Given the description of an element on the screen output the (x, y) to click on. 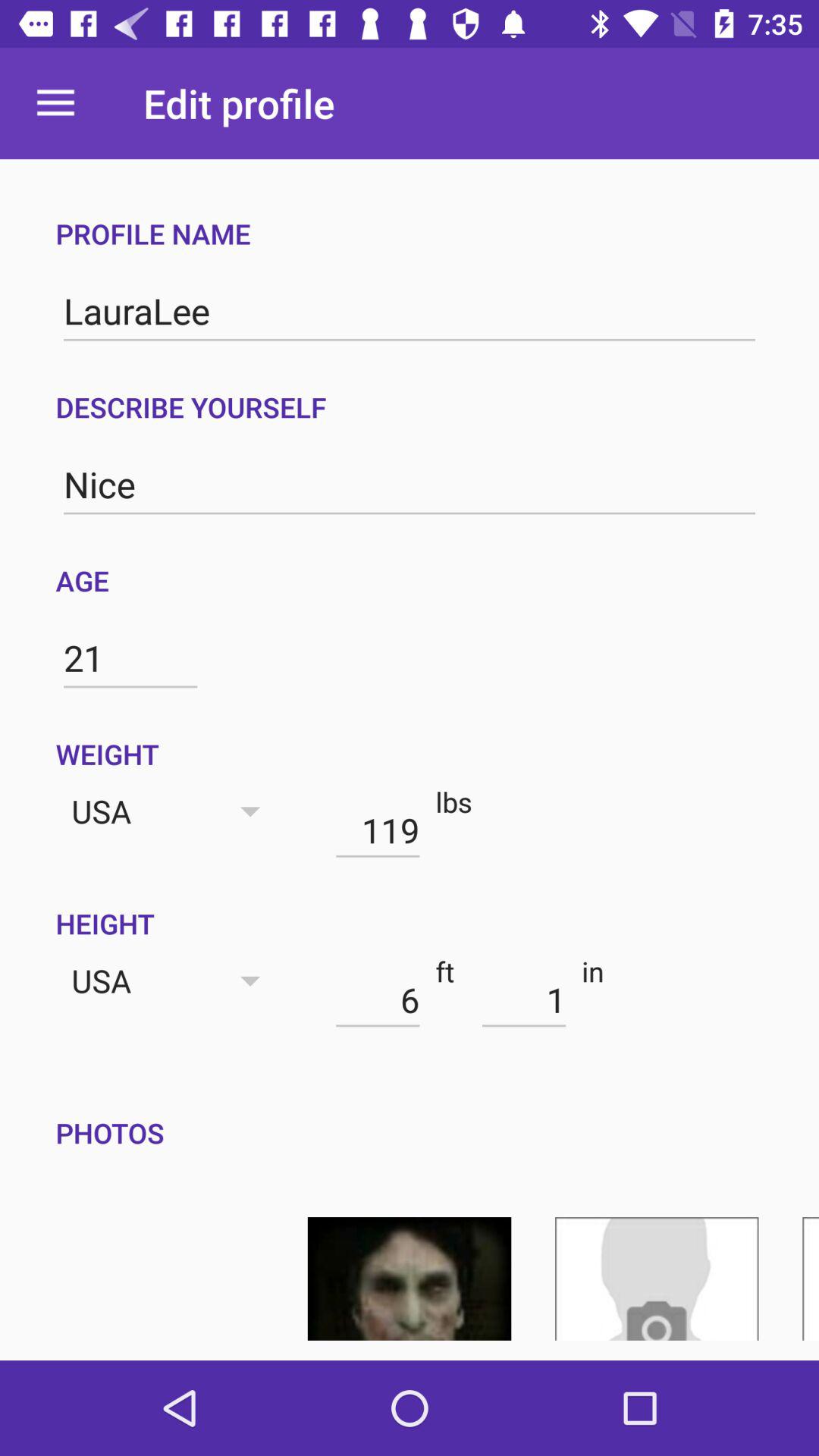
open item next to the ft icon (377, 999)
